Given the description of an element on the screen output the (x, y) to click on. 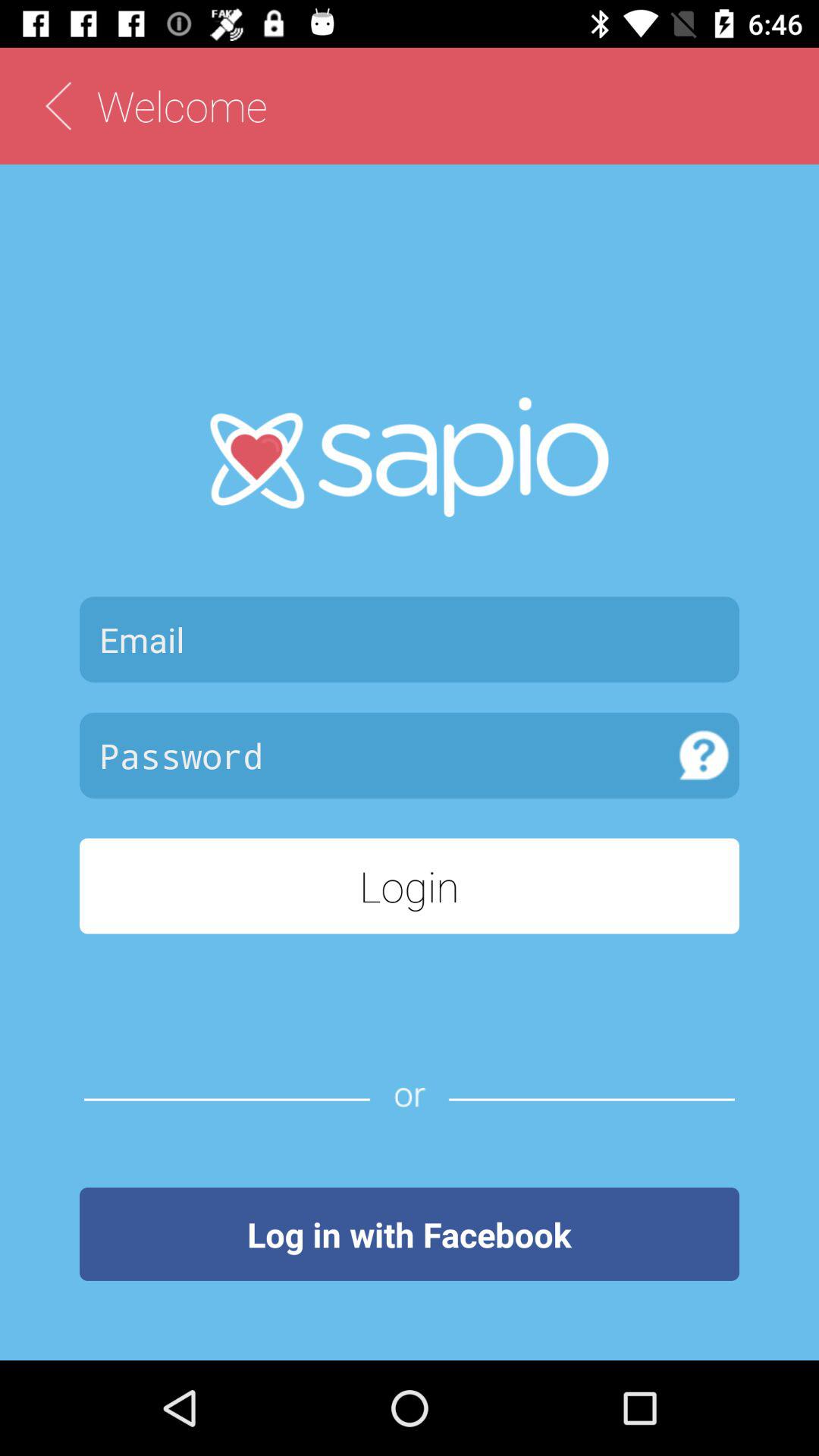
press the login (409, 885)
